Given the description of an element on the screen output the (x, y) to click on. 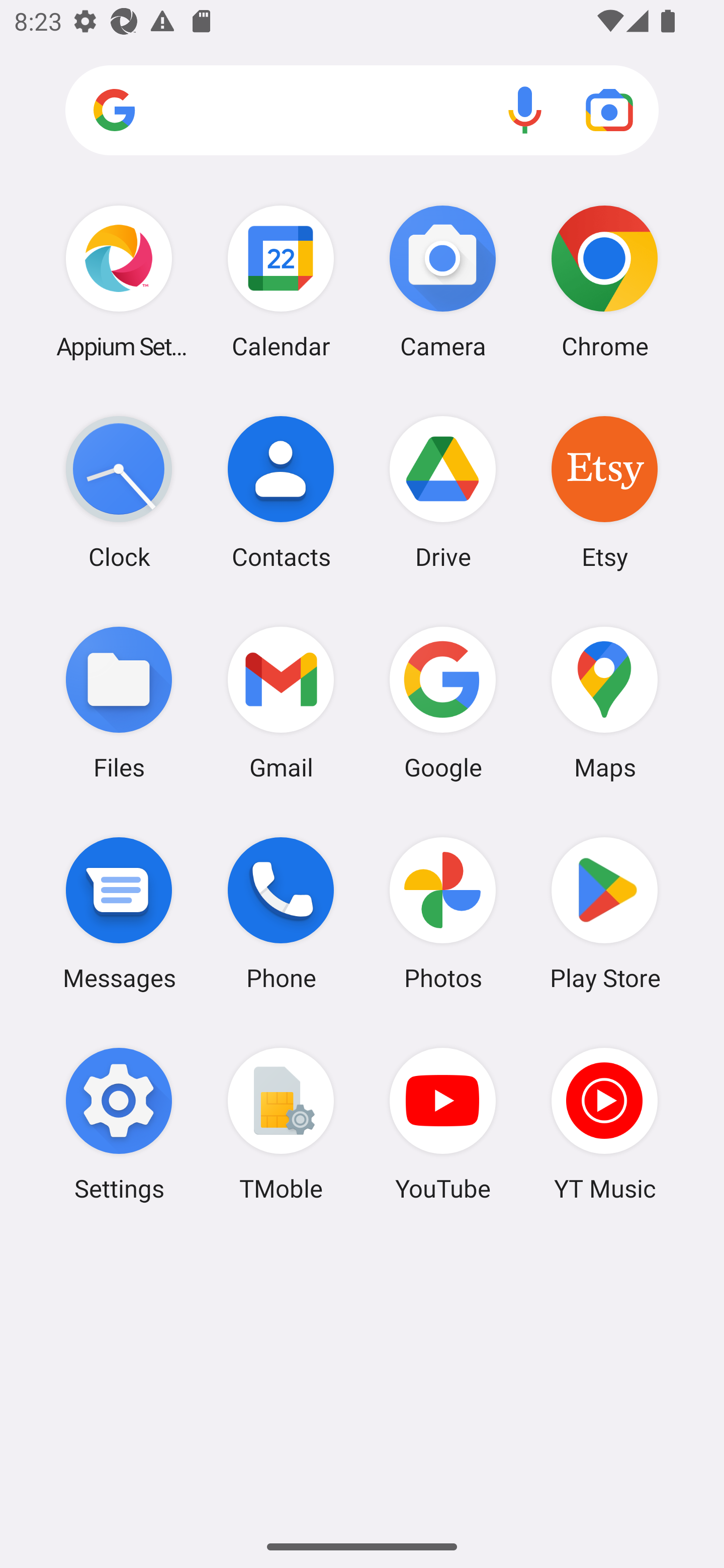
Search apps, web and more (361, 110)
Voice search (524, 109)
Google Lens (608, 109)
Appium Settings (118, 281)
Calendar (280, 281)
Camera (443, 281)
Chrome (604, 281)
Clock (118, 492)
Contacts (280, 492)
Drive (443, 492)
Etsy (604, 492)
Files (118, 702)
Gmail (280, 702)
Google (443, 702)
Maps (604, 702)
Messages (118, 913)
Phone (280, 913)
Photos (443, 913)
Play Store (604, 913)
Settings (118, 1124)
TMoble (280, 1124)
YouTube (443, 1124)
YT Music (604, 1124)
